Given the description of an element on the screen output the (x, y) to click on. 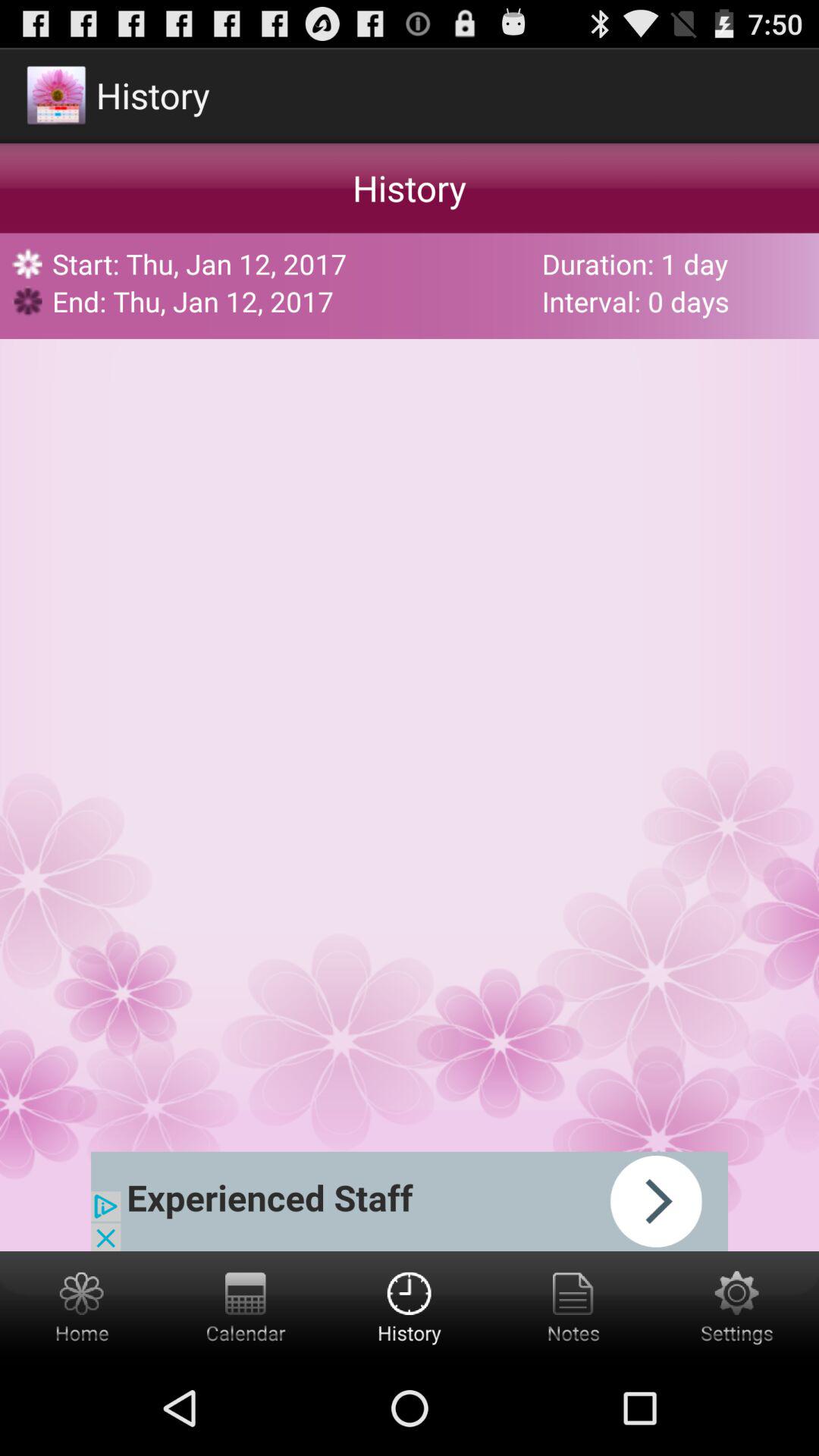
select calendar (245, 1305)
